Given the description of an element on the screen output the (x, y) to click on. 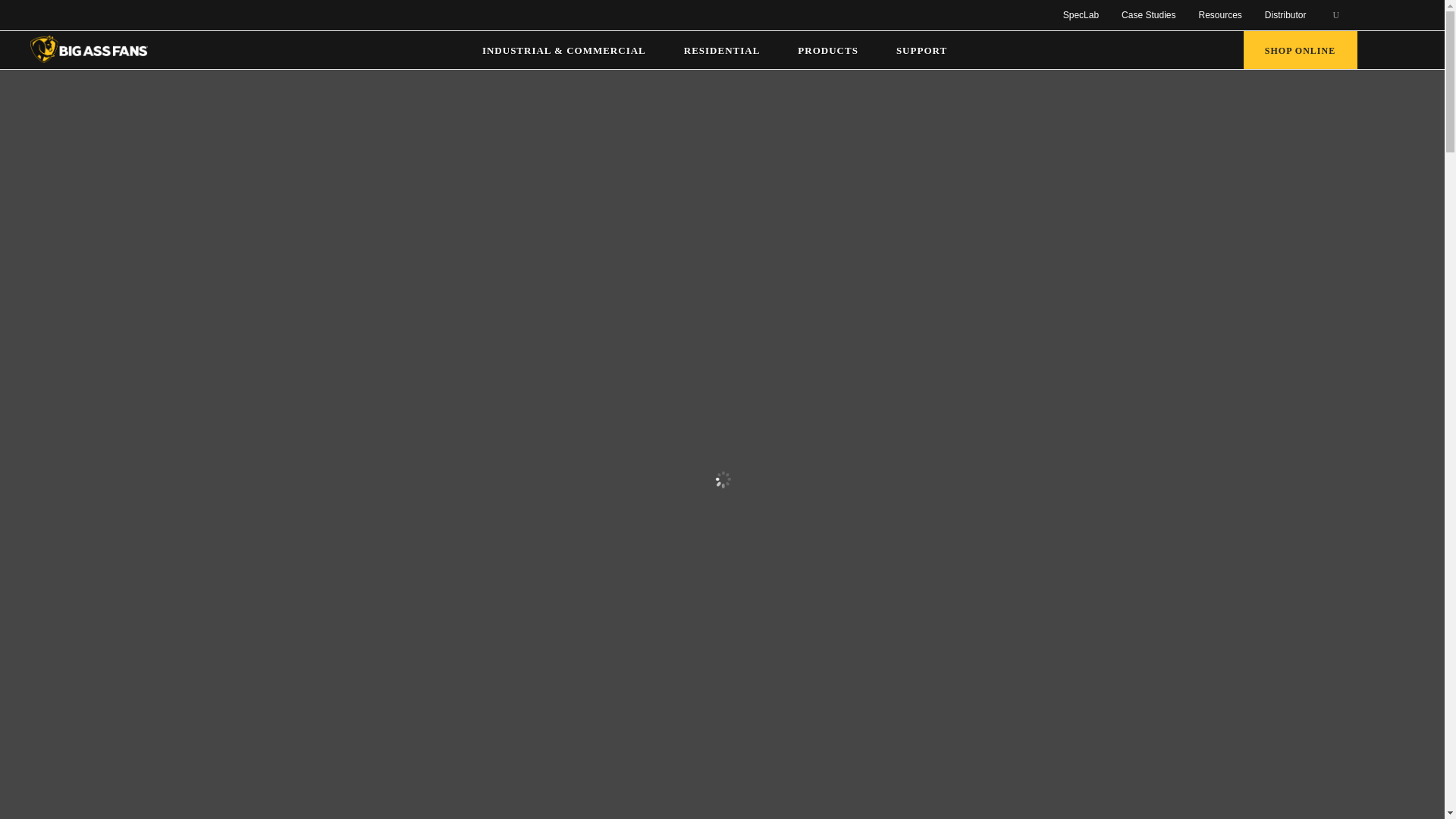
Distributor (1285, 17)
PRODUCTS (835, 53)
Resources (1219, 17)
SpecLab (1080, 17)
Case Studies (1147, 17)
RESIDENTIAL (730, 53)
SHOP ONLINE (1300, 50)
SUPPORT (929, 53)
